Given the description of an element on the screen output the (x, y) to click on. 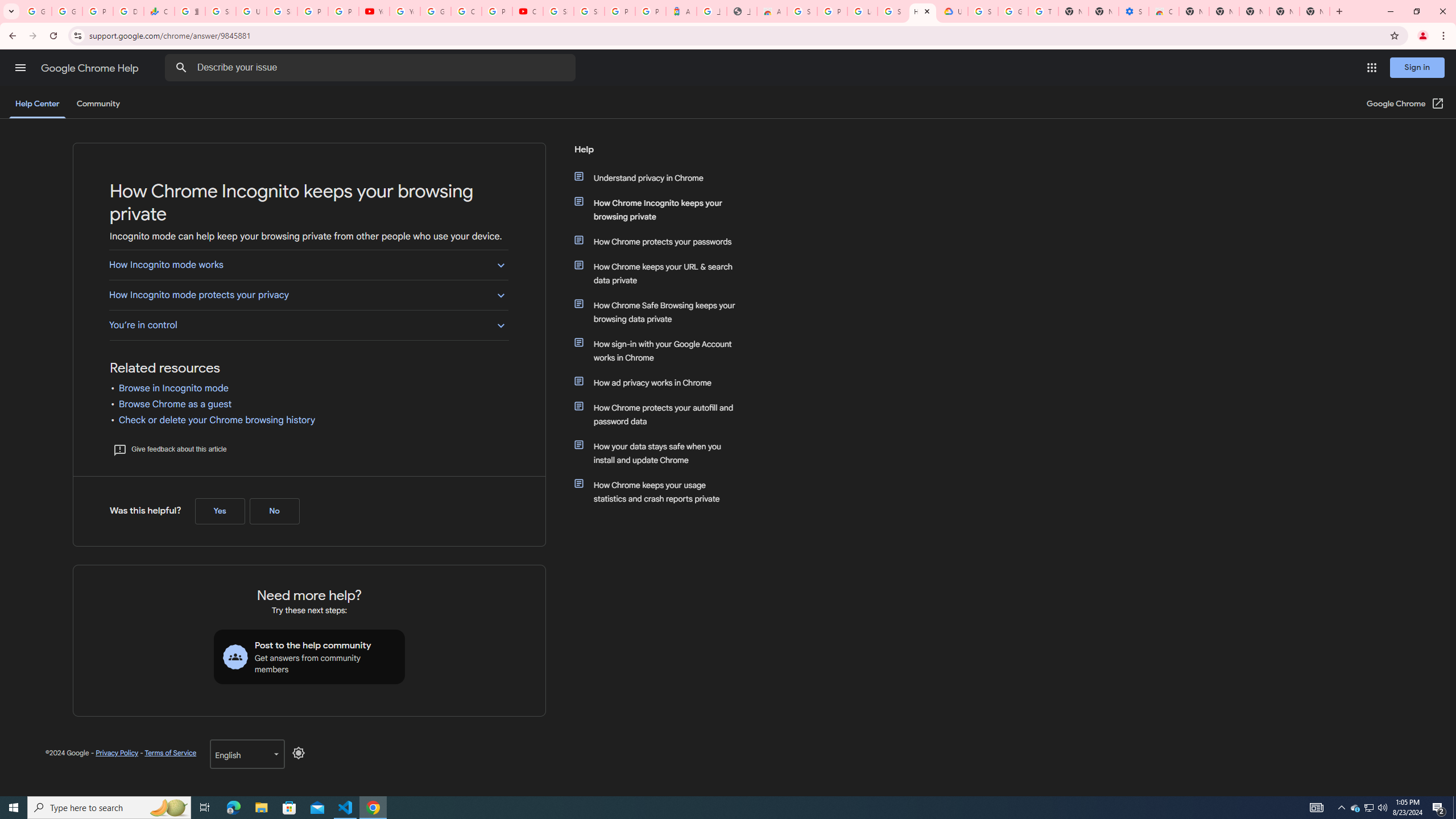
How ad privacy works in Chrome (661, 382)
Sign in - Google Accounts (220, 11)
Google Account Help (1012, 11)
Community (97, 103)
Browse Chrome as a guest (175, 404)
Settings - Accessibility (1133, 11)
